Given the description of an element on the screen output the (x, y) to click on. 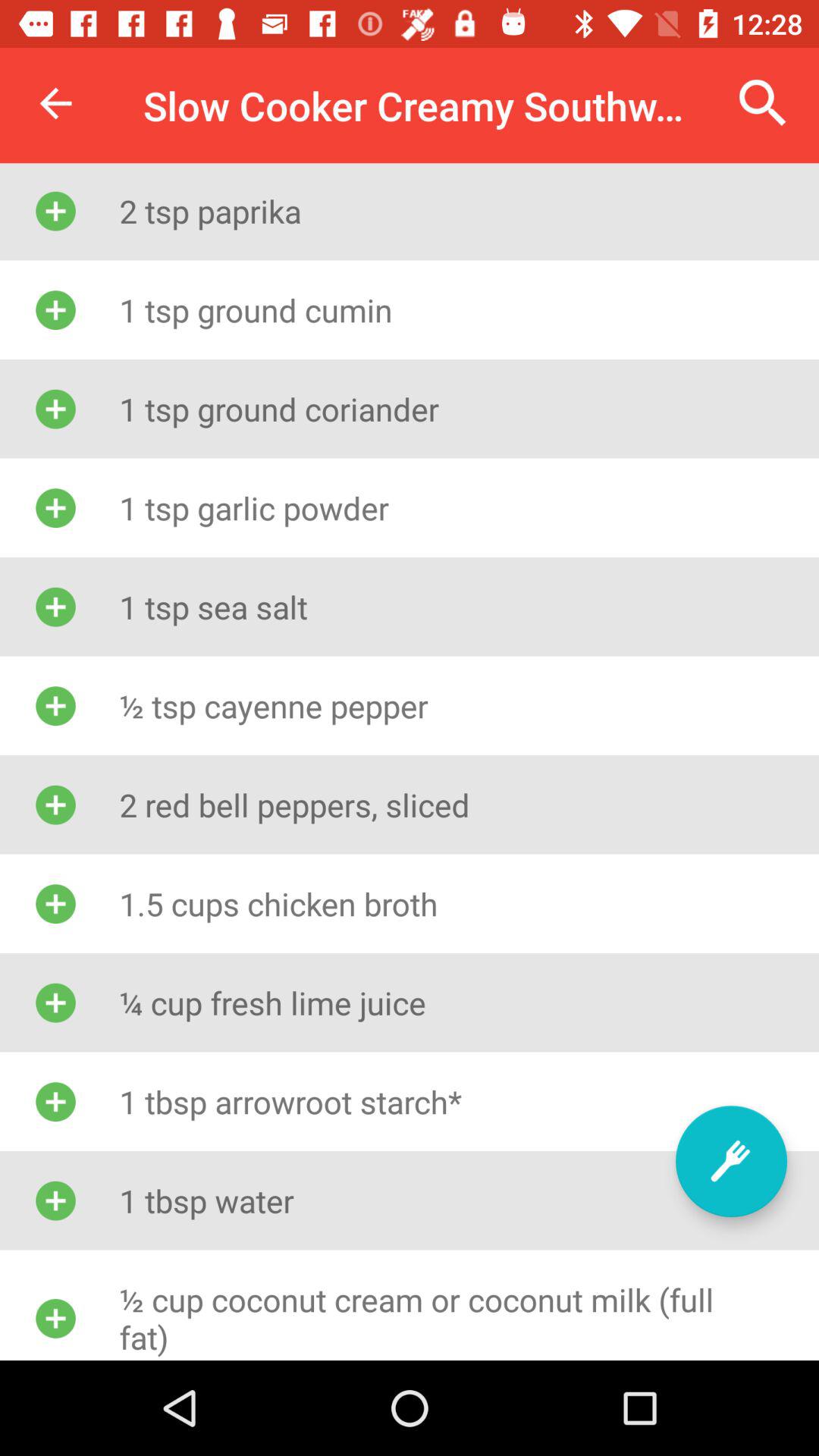
click item above 2 tsp paprika item (55, 103)
